Given the description of an element on the screen output the (x, y) to click on. 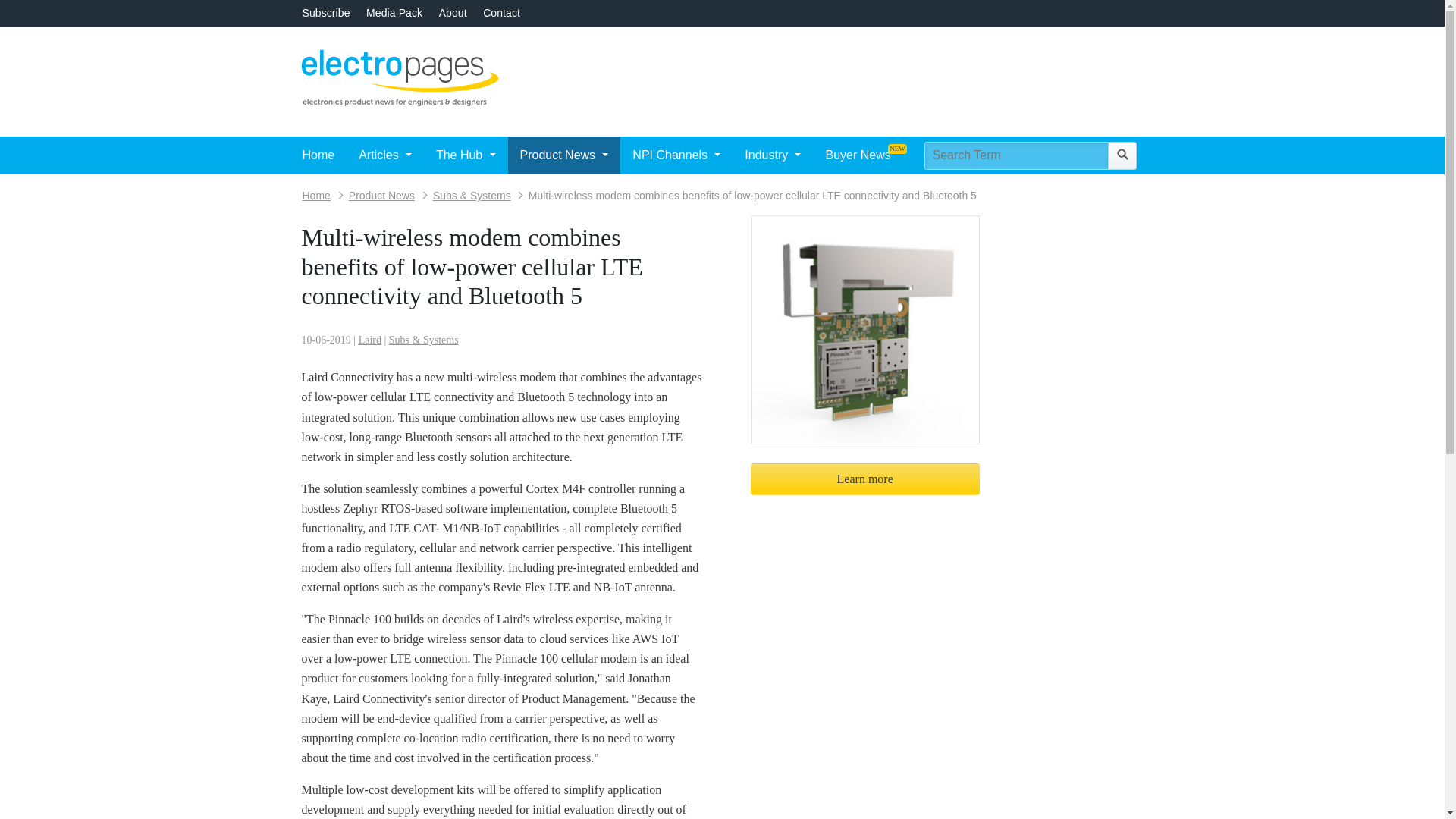
Contact (501, 12)
Subscribe (325, 12)
Media Pack (394, 12)
Home (317, 155)
Product News (564, 155)
Articles (384, 155)
The Hub (465, 155)
About (453, 12)
